Given the description of an element on the screen output the (x, y) to click on. 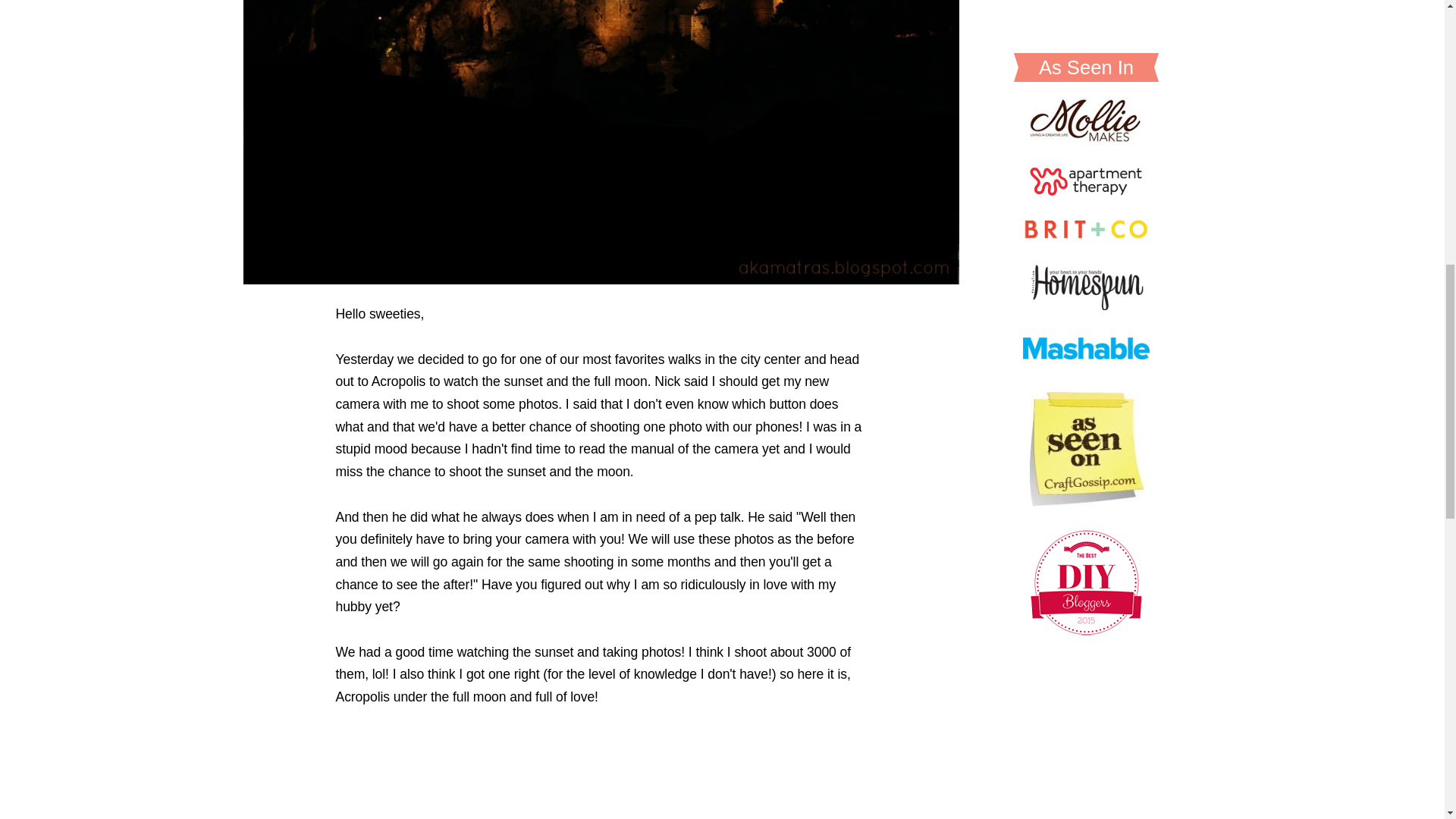
DIY Bloggers (1086, 78)
